Given the description of an element on the screen output the (x, y) to click on. 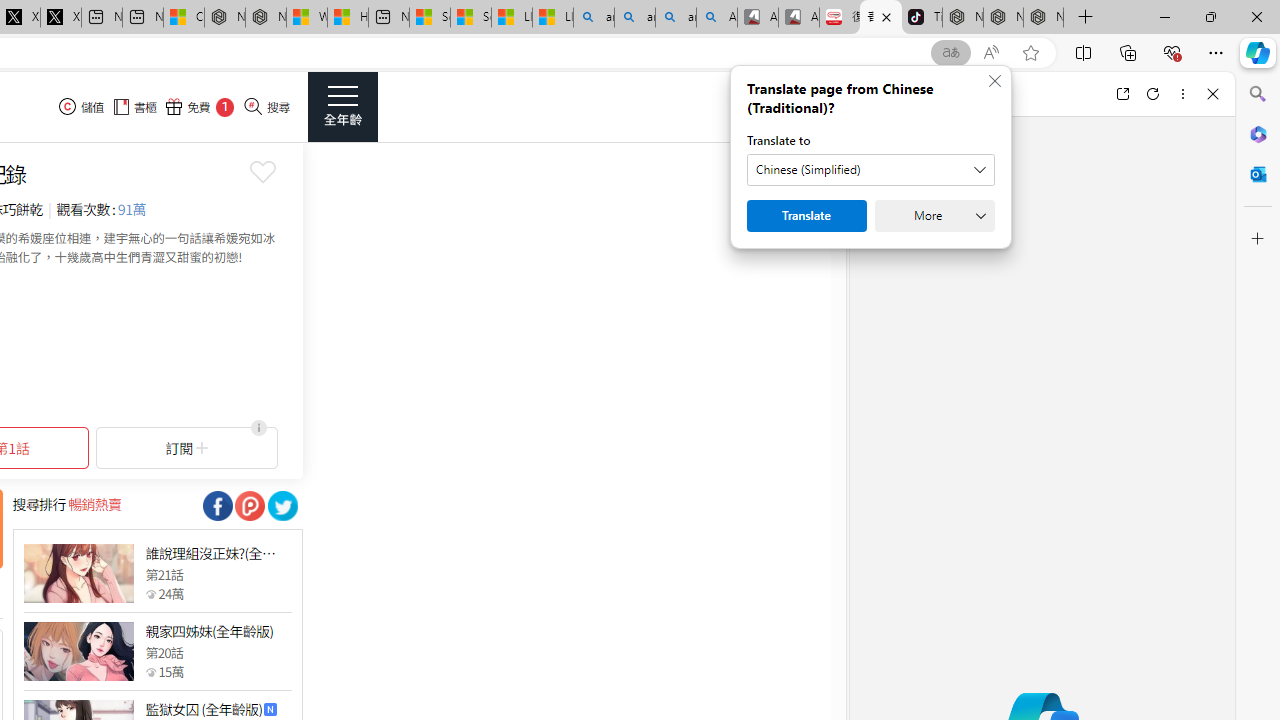
Show translate options (950, 53)
Huge shark washes ashore at New York City beach | Watch (347, 17)
